Given the description of an element on the screen output the (x, y) to click on. 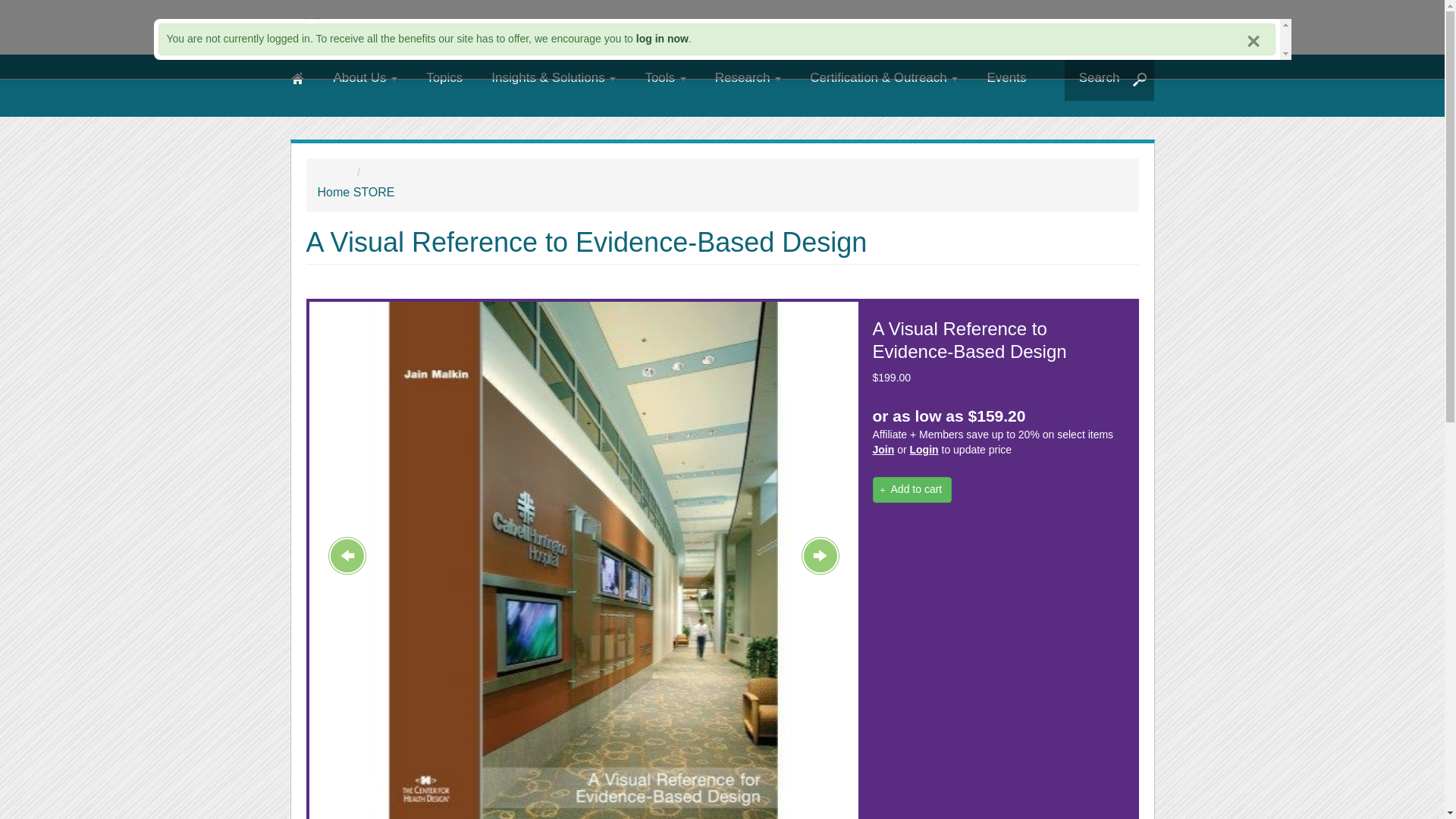
log in now (662, 38)
DONATE (1088, 30)
Topics (444, 77)
LOG IN (948, 30)
JOIN (867, 30)
STORE (1022, 30)
Home (474, 26)
About Us (365, 77)
